Given the description of an element on the screen output the (x, y) to click on. 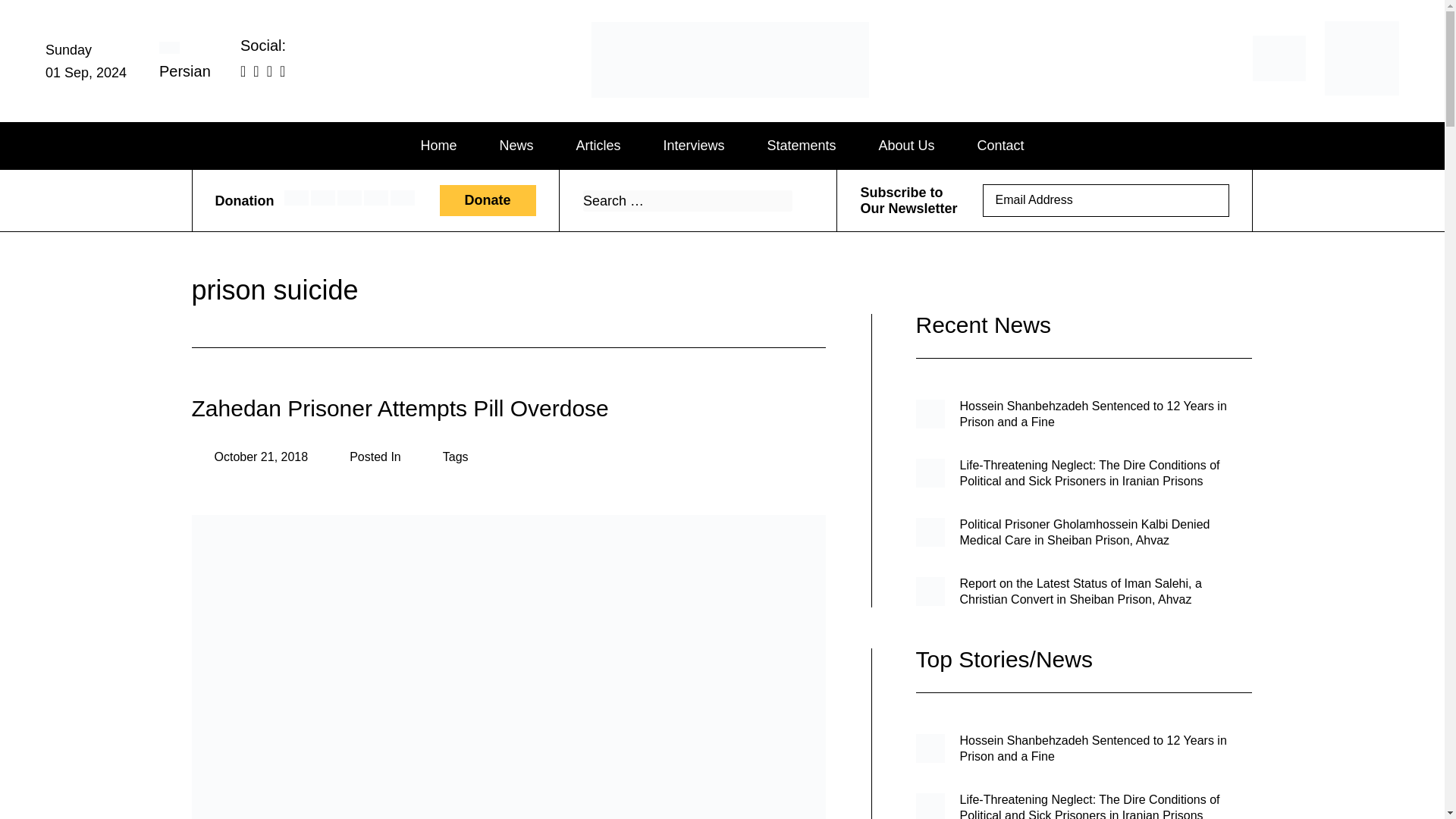
Sign up (1207, 200)
Statements (801, 145)
Interviews (693, 145)
Search (801, 199)
Zahedan Prisoner Attempts Pill Overdose (399, 407)
About Us (906, 145)
Articles (598, 145)
Search (801, 199)
Contact (1000, 145)
Donate (487, 200)
